Given the description of an element on the screen output the (x, y) to click on. 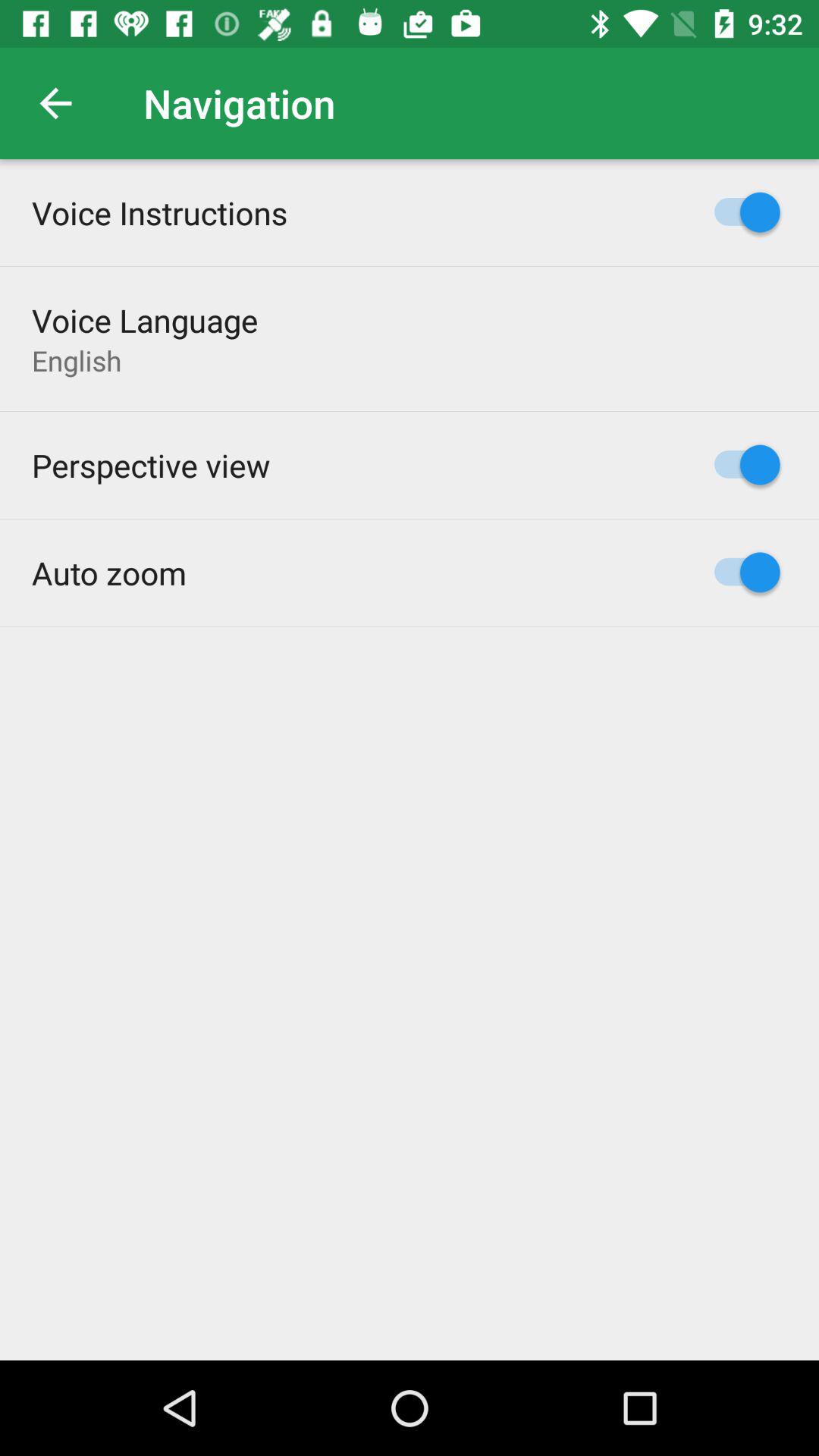
turn on icon below the english item (150, 464)
